Given the description of an element on the screen output the (x, y) to click on. 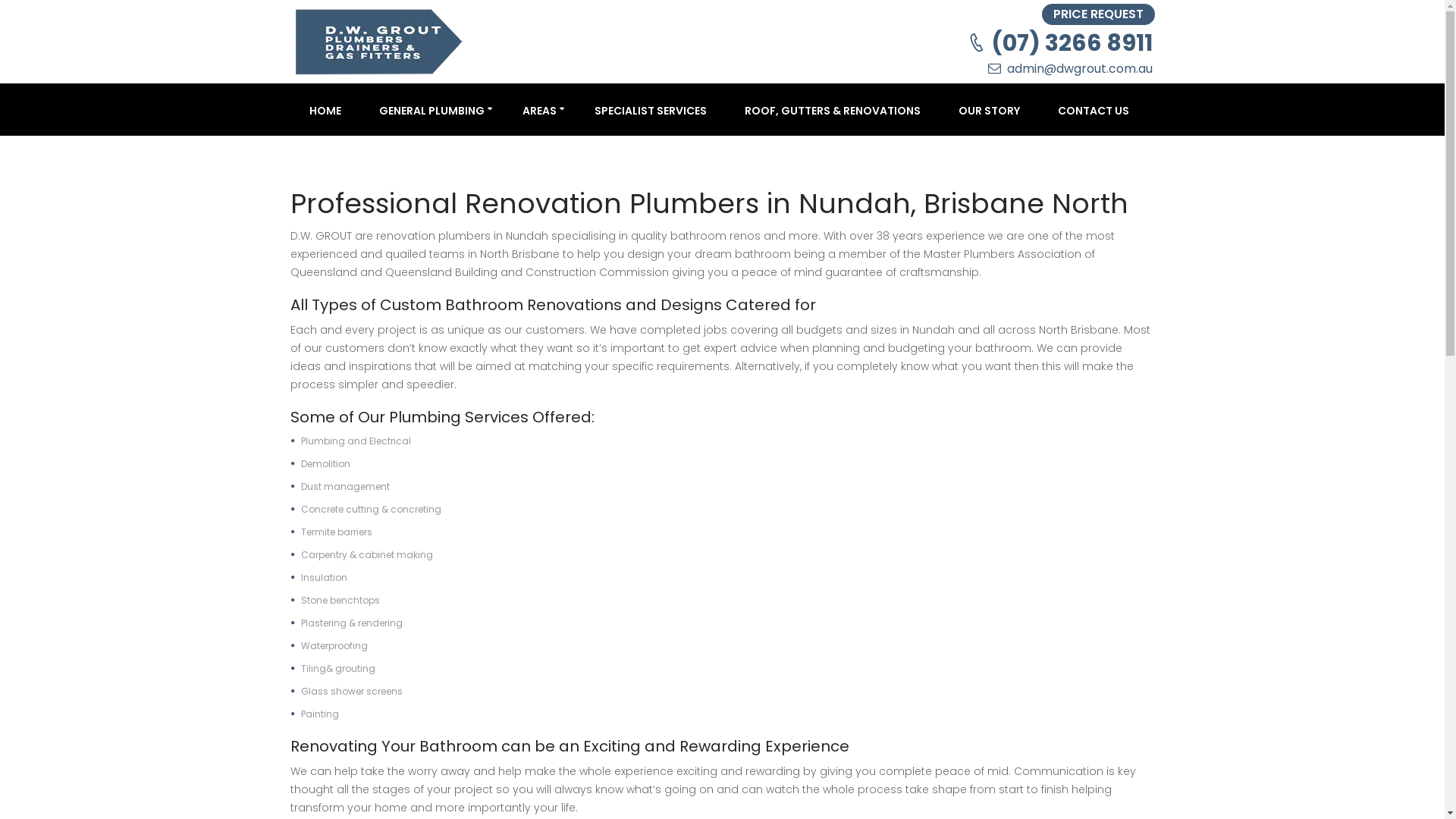
HOME Element type: text (324, 108)
CONTACT US Element type: text (1093, 108)
(07) 3266 8911 Element type: text (1072, 43)
admin@dwgrout.com.au Element type: text (1080, 68)
PRICE REQUEST Element type: text (1097, 14)
SPECIALIST SERVICES Element type: text (649, 108)
OUR STORY Element type: text (988, 108)
GENERAL PLUMBING Element type: text (431, 108)
AREAS Element type: text (539, 108)
ROOF, GUTTERS & RENOVATIONS Element type: text (831, 108)
